Given the description of an element on the screen output the (x, y) to click on. 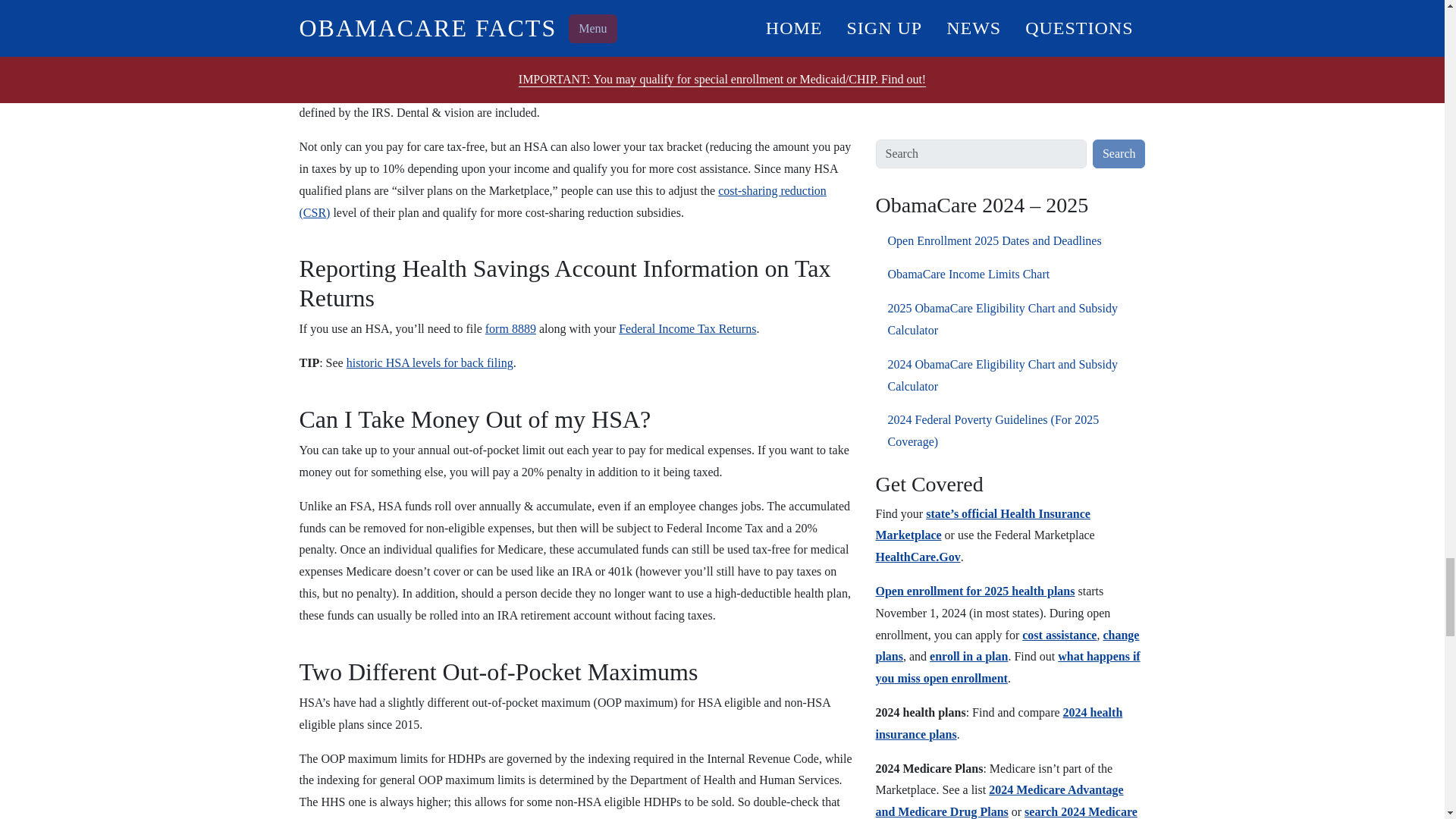
File Taxes For ObamaCare (686, 328)
HSA form (509, 328)
